Given the description of an element on the screen output the (x, y) to click on. 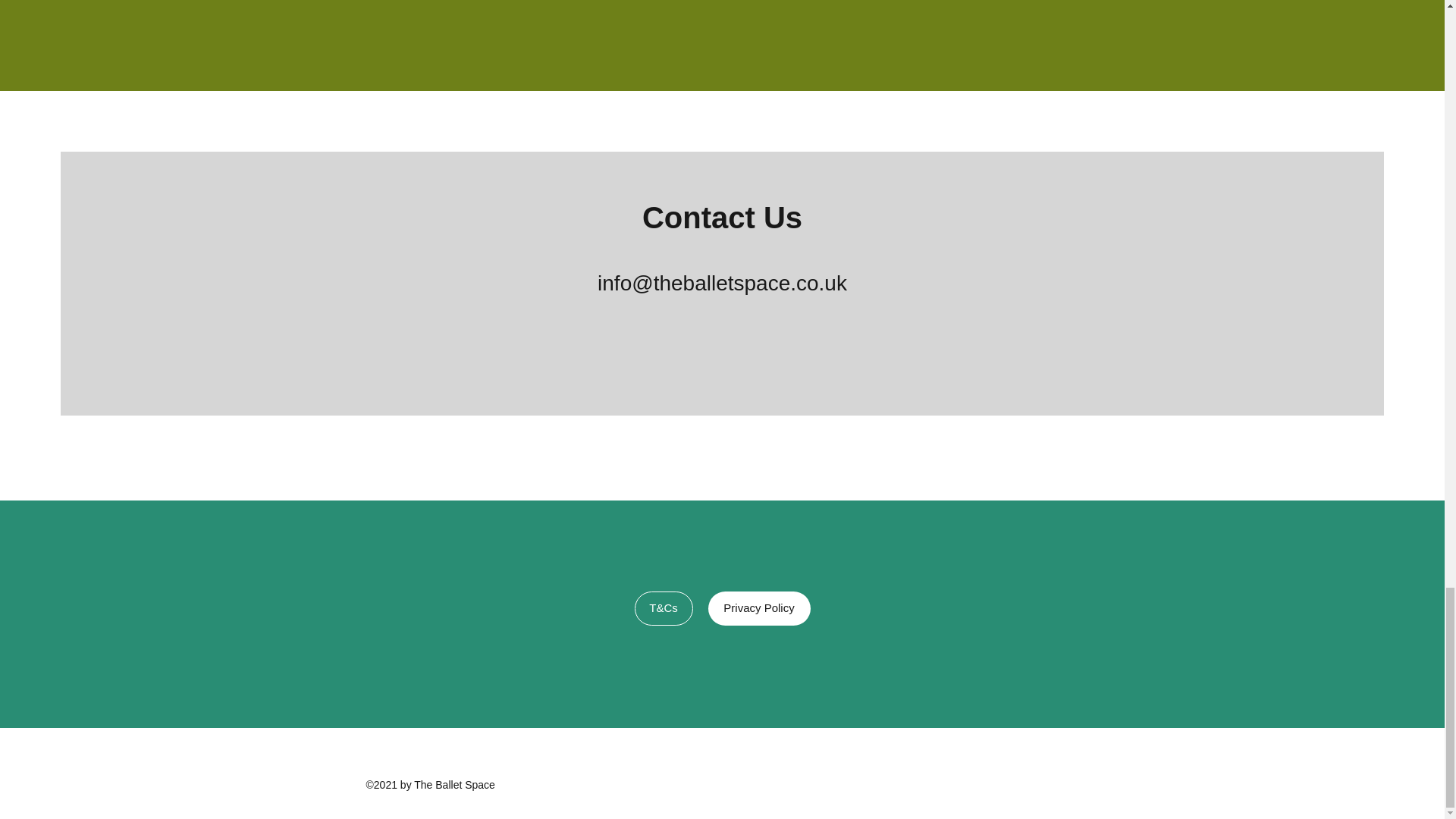
Privacy Policy (758, 608)
